Given the description of an element on the screen output the (x, y) to click on. 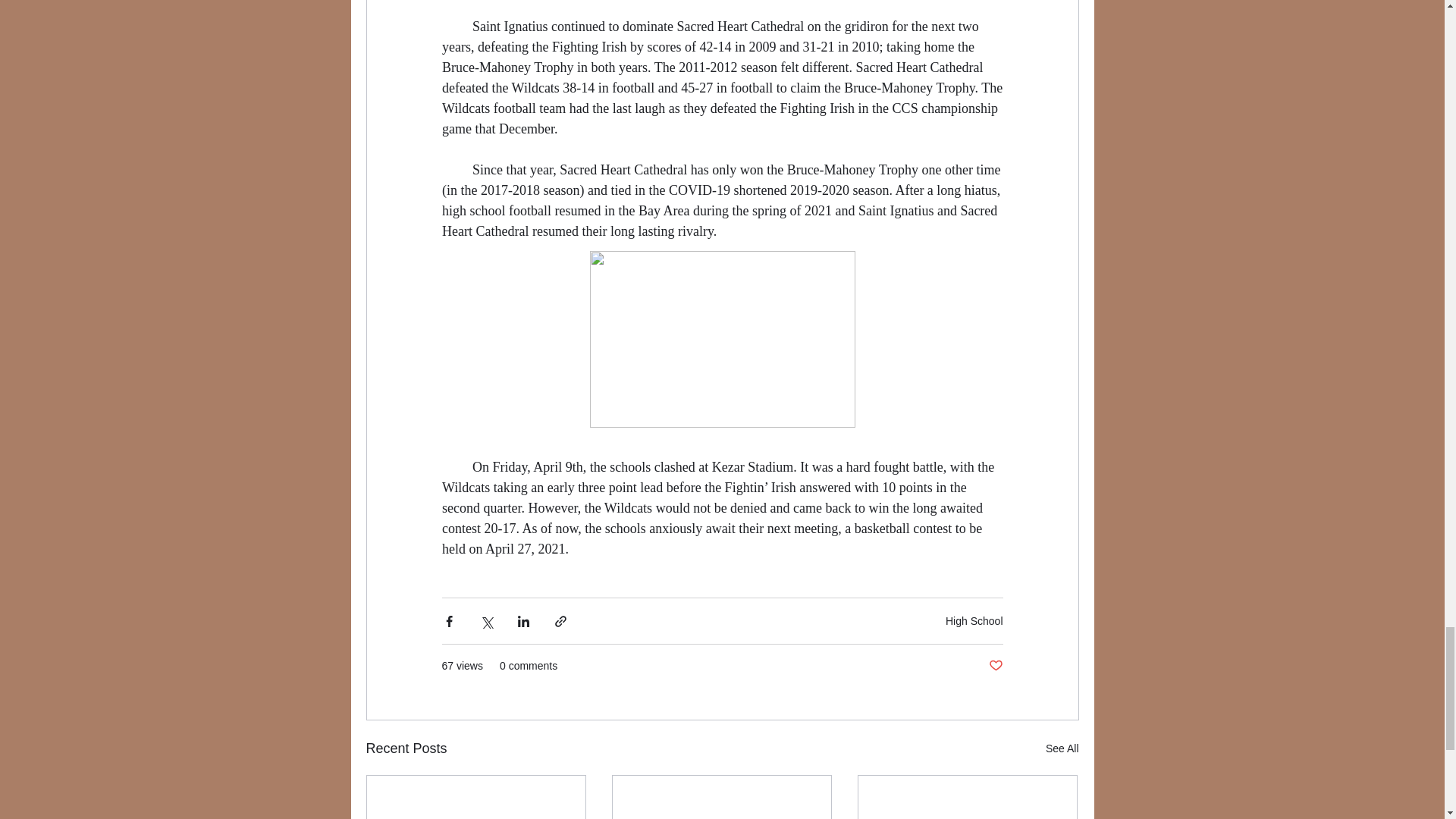
High School (973, 621)
Post not marked as liked (995, 666)
See All (1061, 748)
Twitter Follow (492, 223)
